Given the description of an element on the screen output the (x, y) to click on. 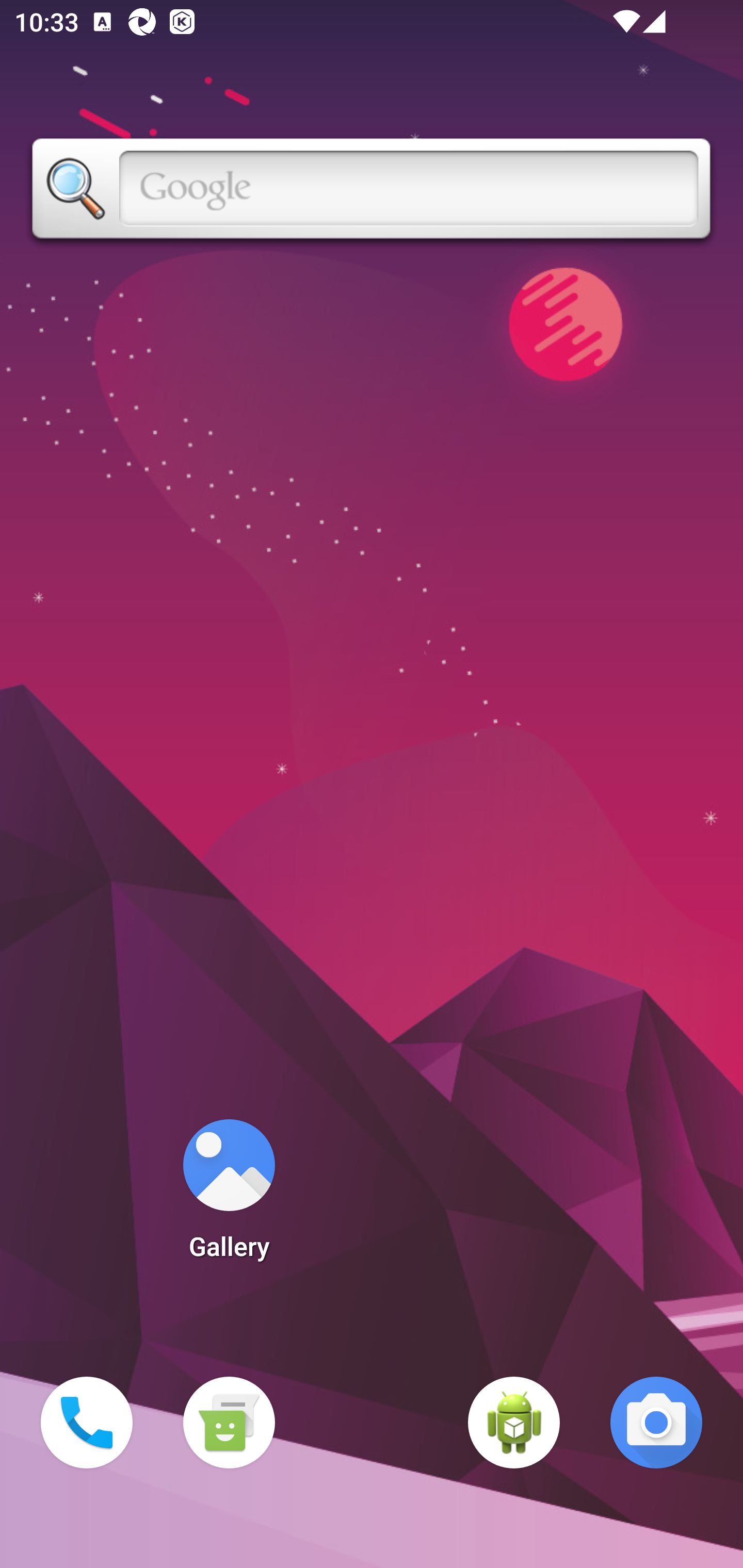
Gallery (228, 1195)
Phone (86, 1422)
Messaging (228, 1422)
WebView Browser Tester (513, 1422)
Camera (656, 1422)
